Given the description of an element on the screen output the (x, y) to click on. 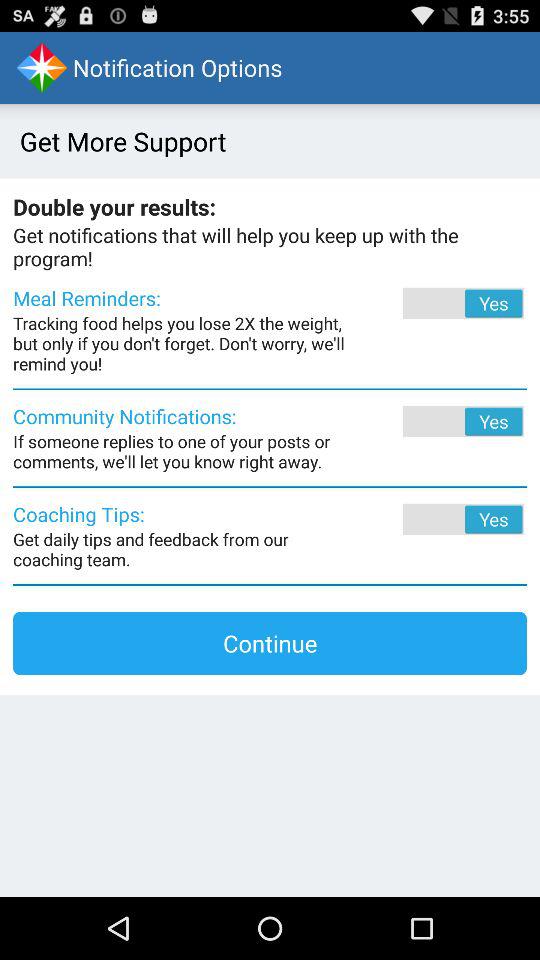
turn on the app below get notifications that item (436, 303)
